Given the description of an element on the screen output the (x, y) to click on. 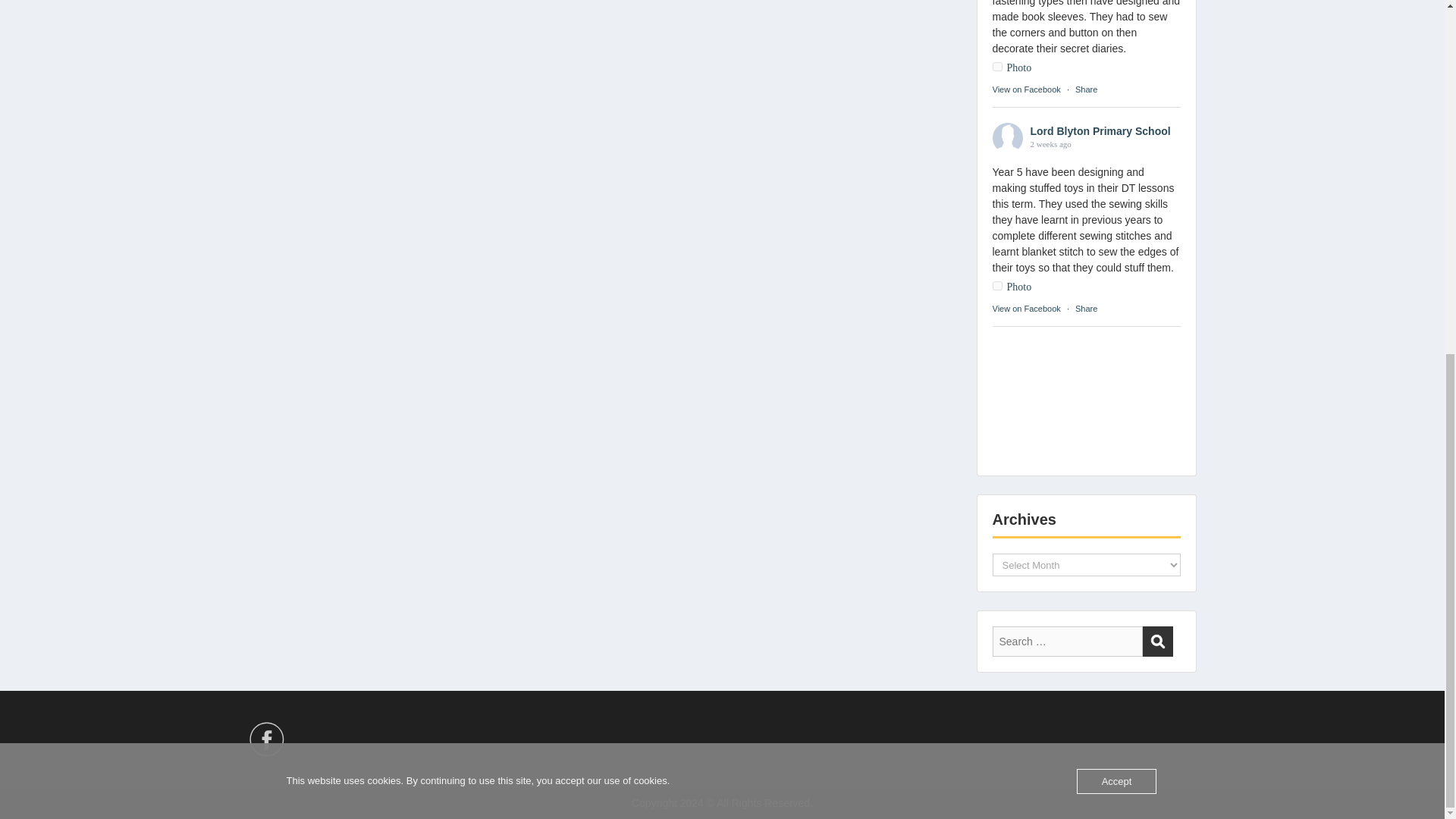
Share (1086, 89)
Search (1156, 641)
Search for: (1066, 641)
View on Facebook (1025, 89)
Likebox Iframe (1085, 398)
Share (1086, 307)
View on Facebook (1025, 307)
